Given the description of an element on the screen output the (x, y) to click on. 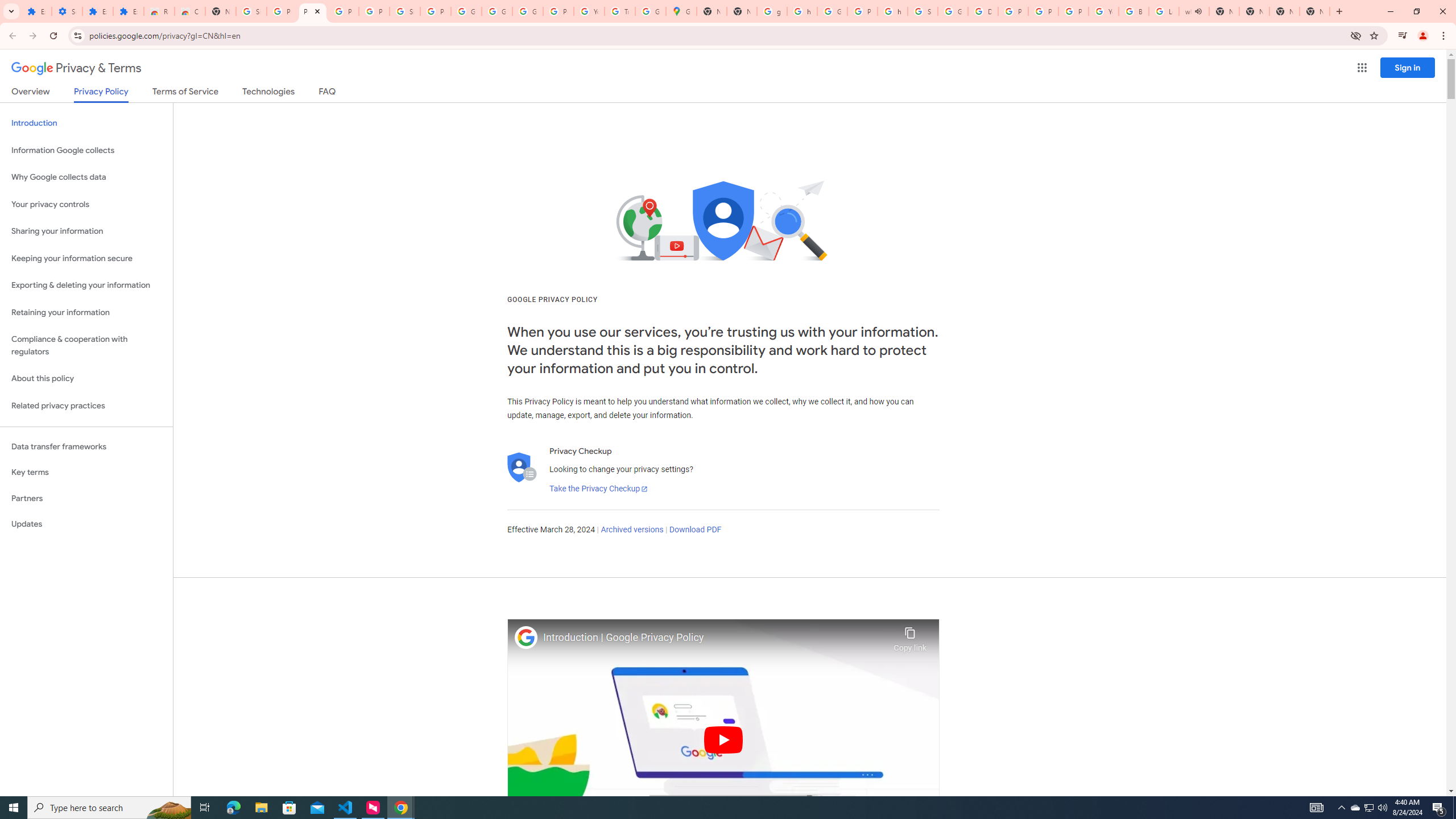
Google Account (465, 11)
Archived versions (631, 529)
Extensions (36, 11)
Sharing your information (86, 230)
Google Account (496, 11)
Copy link (909, 636)
Reviews: Helix Fruit Jump Arcade Game (158, 11)
Keeping your information secure (86, 258)
Google Maps (681, 11)
Information Google collects (86, 150)
Why Google collects data (86, 176)
